Given the description of an element on the screen output the (x, y) to click on. 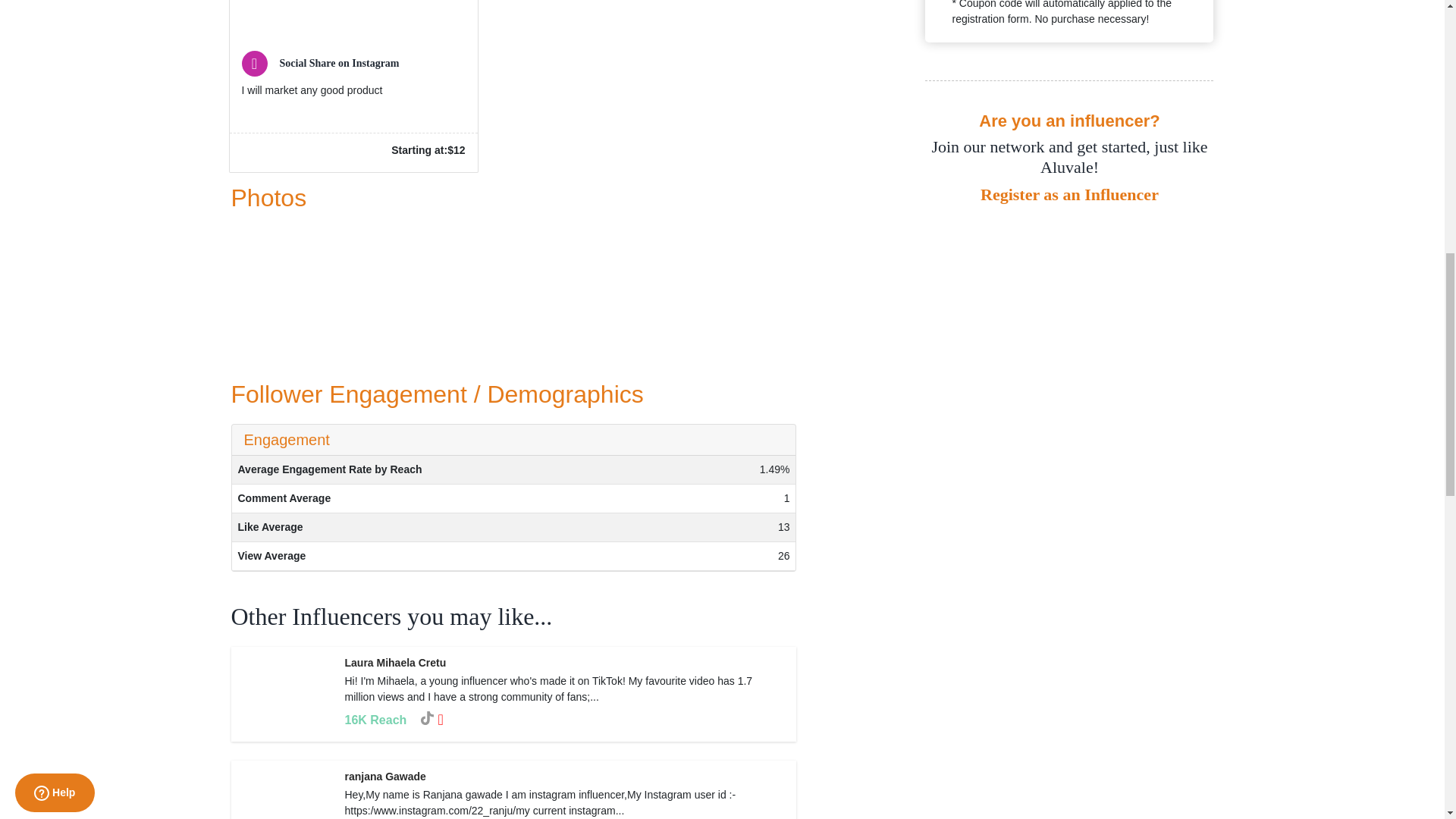
ranjana Gawade (384, 776)
Laura Mihaela Cretu (394, 662)
Register as an Influencer (1068, 194)
